Given the description of an element on the screen output the (x, y) to click on. 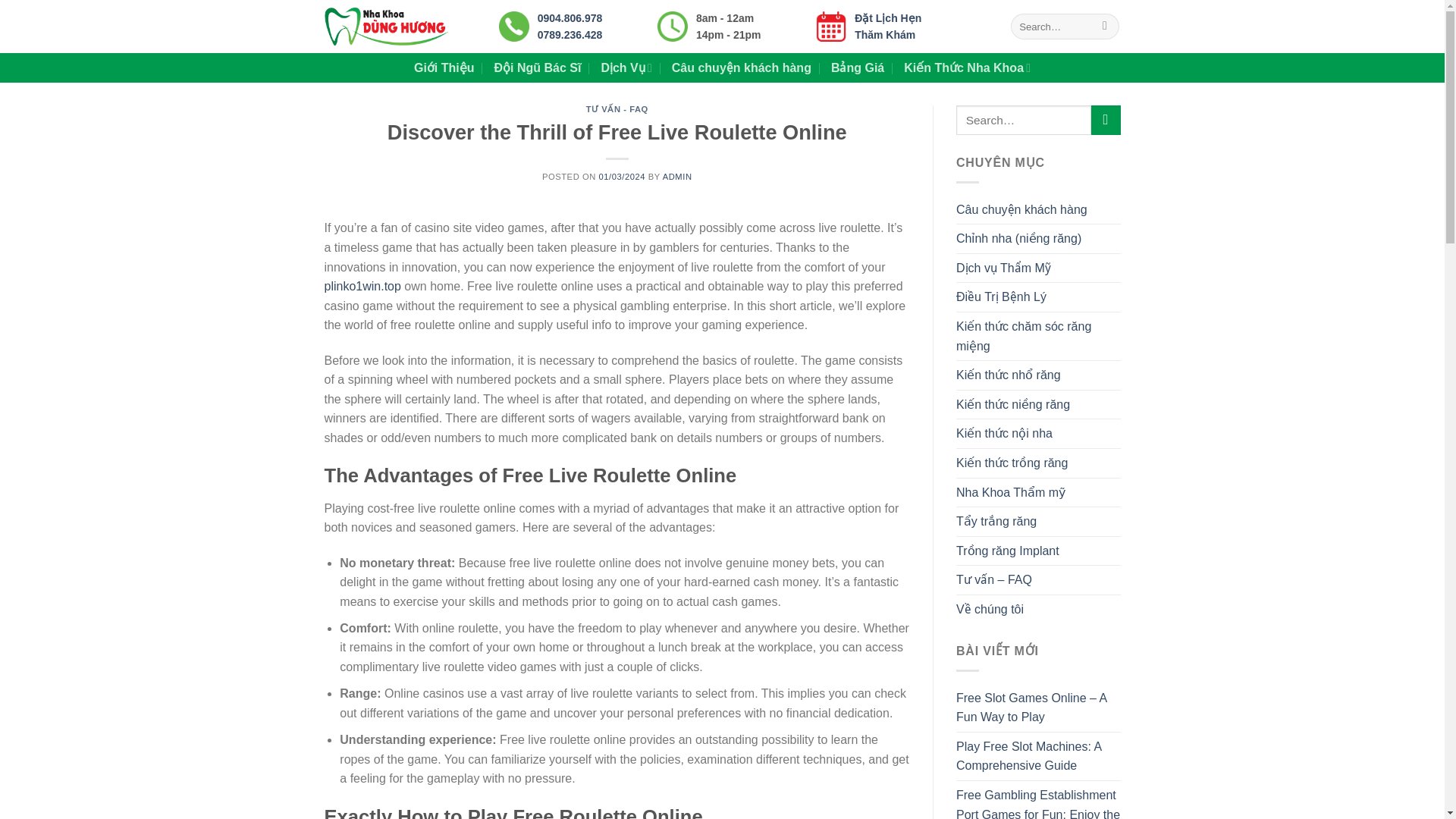
plinko1win.top (362, 286)
0904.806.978 (569, 18)
ADMIN (677, 175)
0789.236.428 (569, 34)
